Given the description of an element on the screen output the (x, y) to click on. 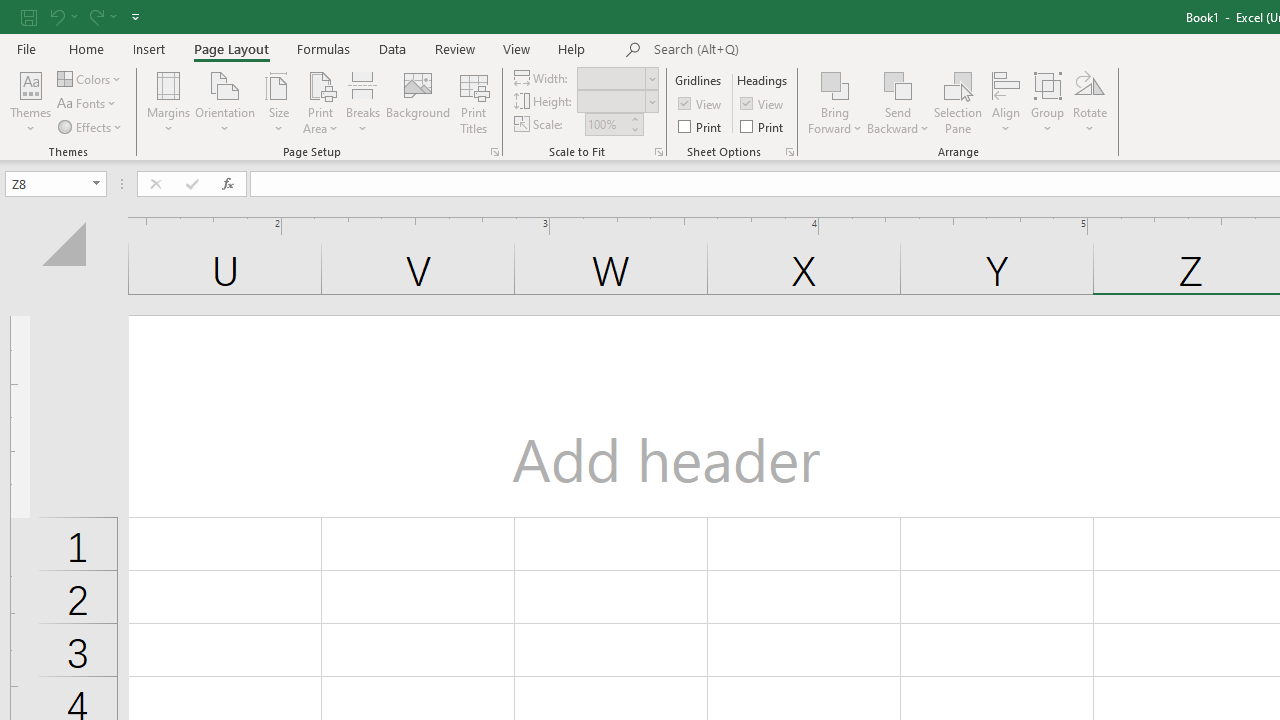
Breaks (362, 102)
Size (278, 102)
Selection Pane... (958, 102)
Rotate (1089, 102)
Print (763, 126)
Send Backward (898, 102)
